Given the description of an element on the screen output the (x, y) to click on. 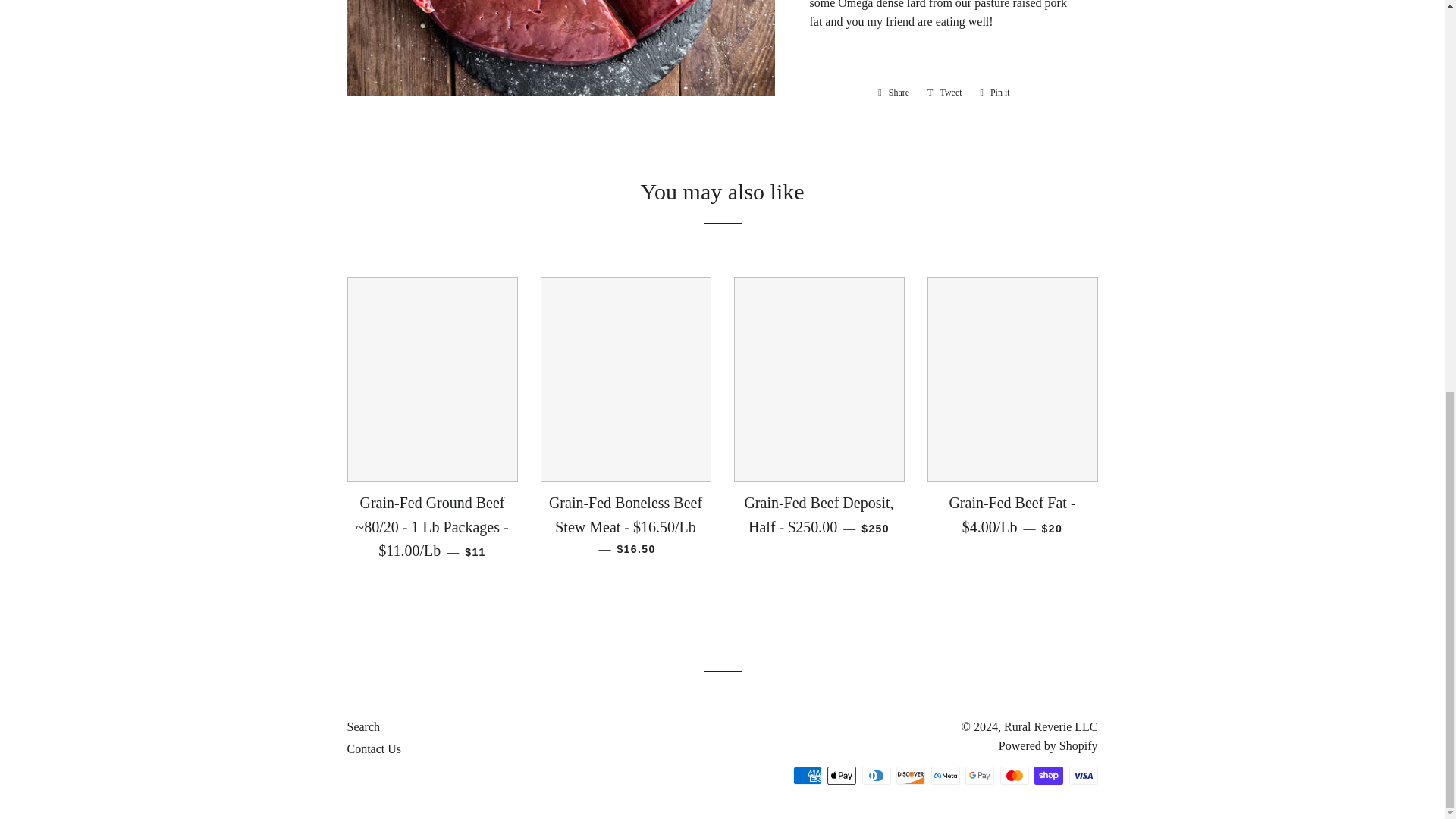
Diners Club (875, 775)
Apple Pay (841, 775)
Visa (1082, 775)
Mastercard (1012, 775)
Google Pay (979, 775)
Meta Pay (945, 775)
Share on Facebook (893, 92)
Tweet on Twitter (944, 92)
Shop Pay (1047, 775)
Discover (910, 775)
American Express (807, 775)
Pin on Pinterest (994, 92)
